Given the description of an element on the screen output the (x, y) to click on. 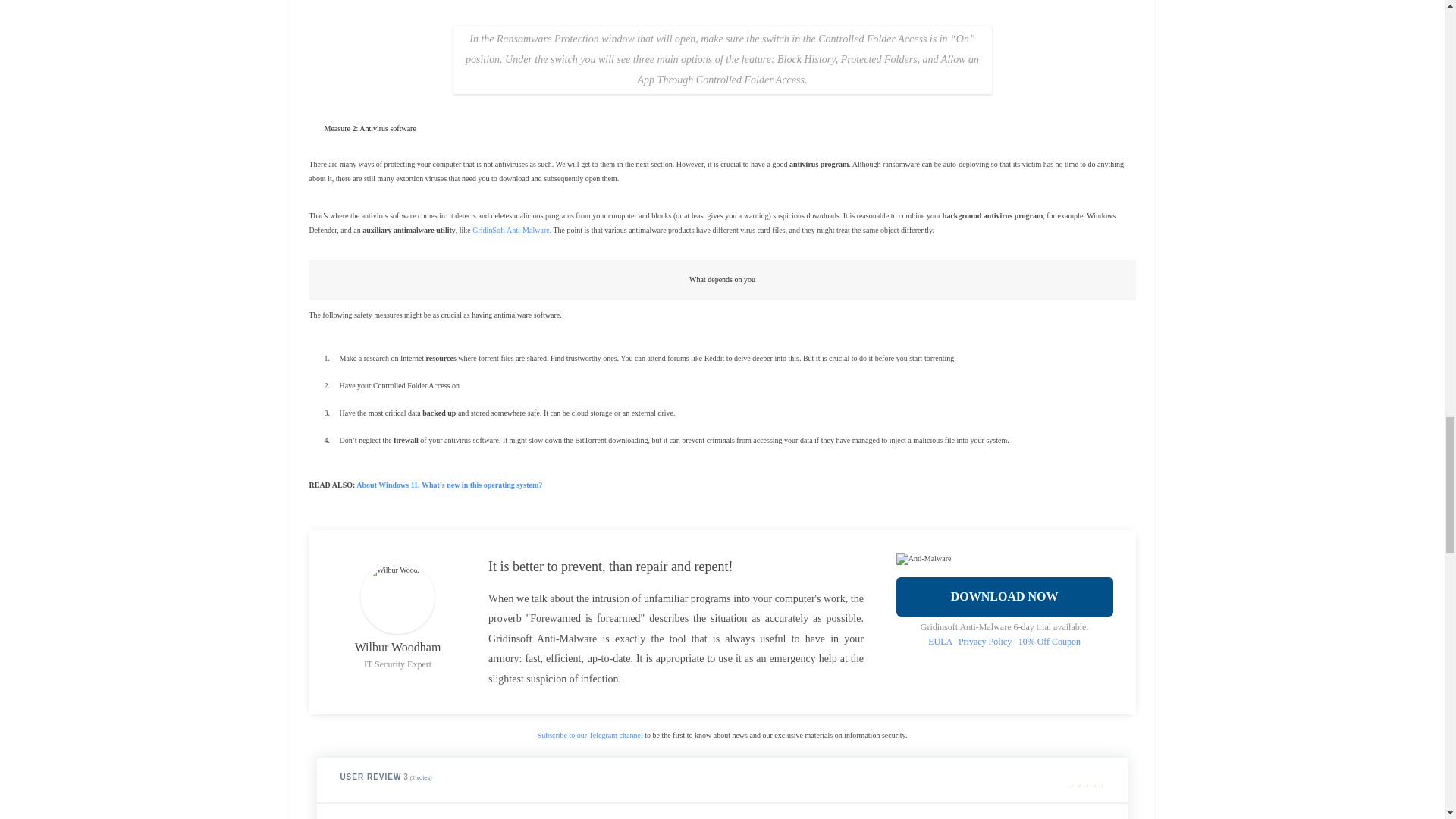
EULA (940, 641)
Privacy Policy (984, 641)
GridinSoft Anti-Malware (509, 230)
Gridinsoft (1048, 641)
Subscribe to our Telegram channel (590, 735)
DOWNLOAD NOW (1004, 596)
